Given the description of an element on the screen output the (x, y) to click on. 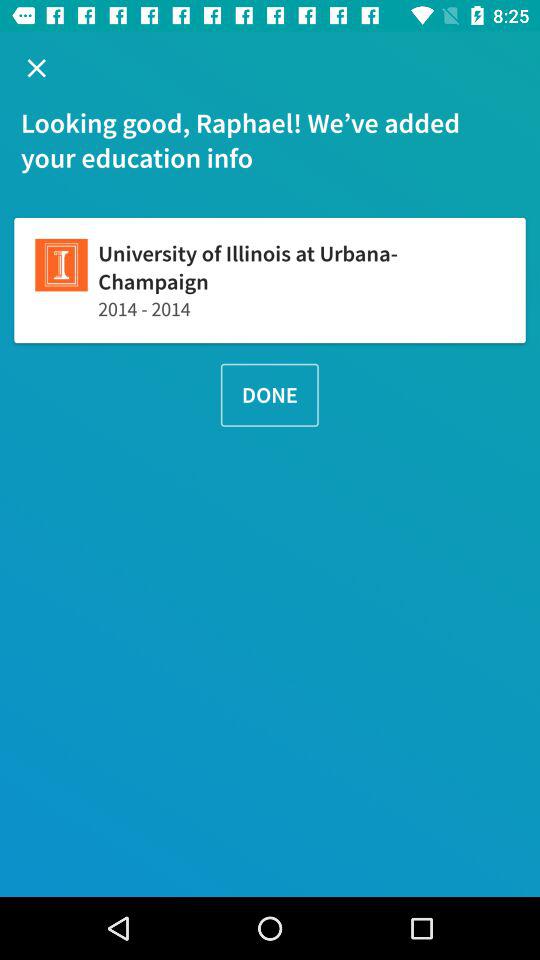
turn off done icon (269, 394)
